Given the description of an element on the screen output the (x, y) to click on. 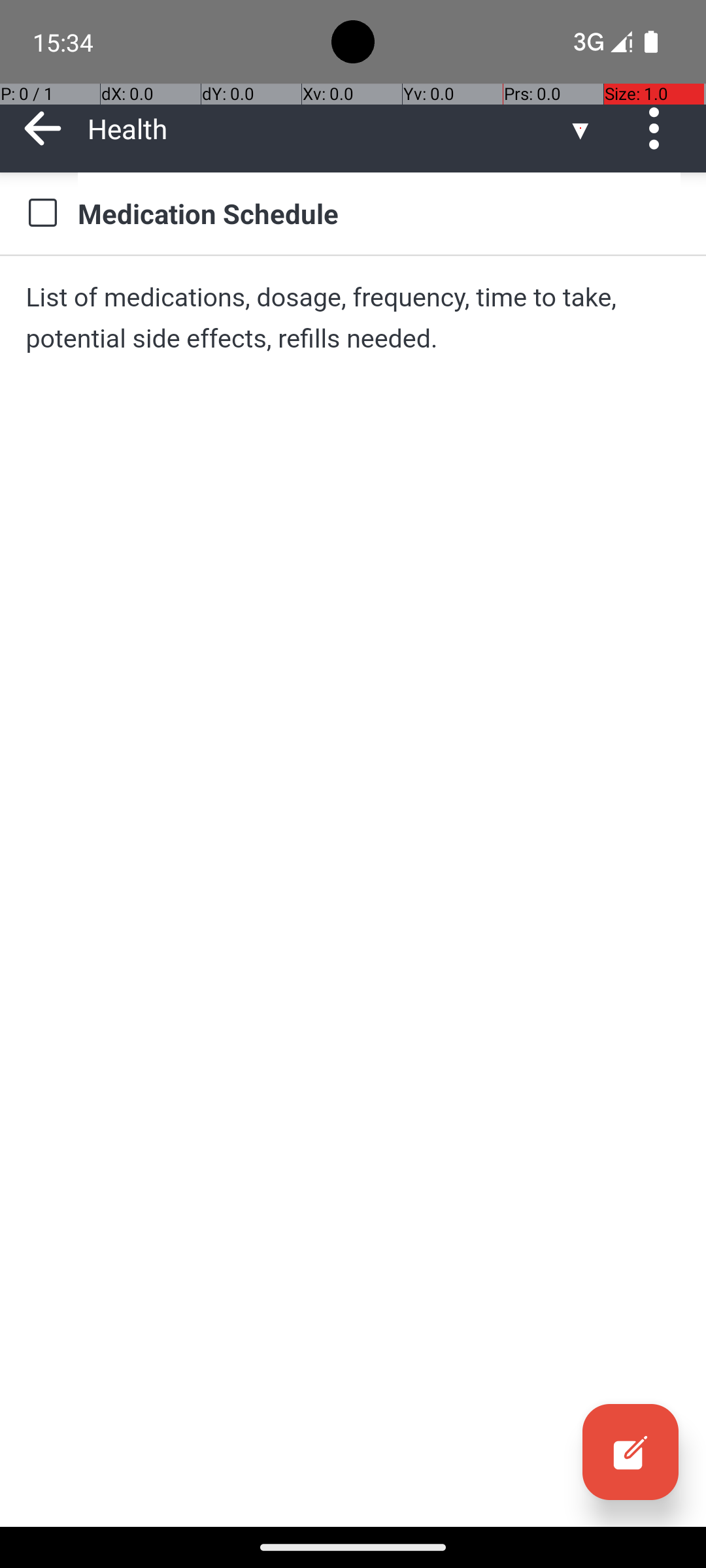
Medication Schedule Element type: android.widget.EditText (378, 213)
Edit, collapsed Element type: android.widget.Button (630, 1452)
 Element type: android.widget.TextView (42, 127)
Health Element type: android.widget.TextView (326, 128)
▼ Element type: android.widget.TextView (580, 128)
Actions Element type: android.view.ViewGroup (658, 127)
 Element type: android.widget.TextView (42, 212)
 Element type: android.widget.TextView (630, 1451)
 Element type: android.widget.TextView (658, 127)
List of medications, dosage, frequency, time to take, potential side effects, refills needed. Element type: android.widget.TextView (352, 317)
